Given the description of an element on the screen output the (x, y) to click on. 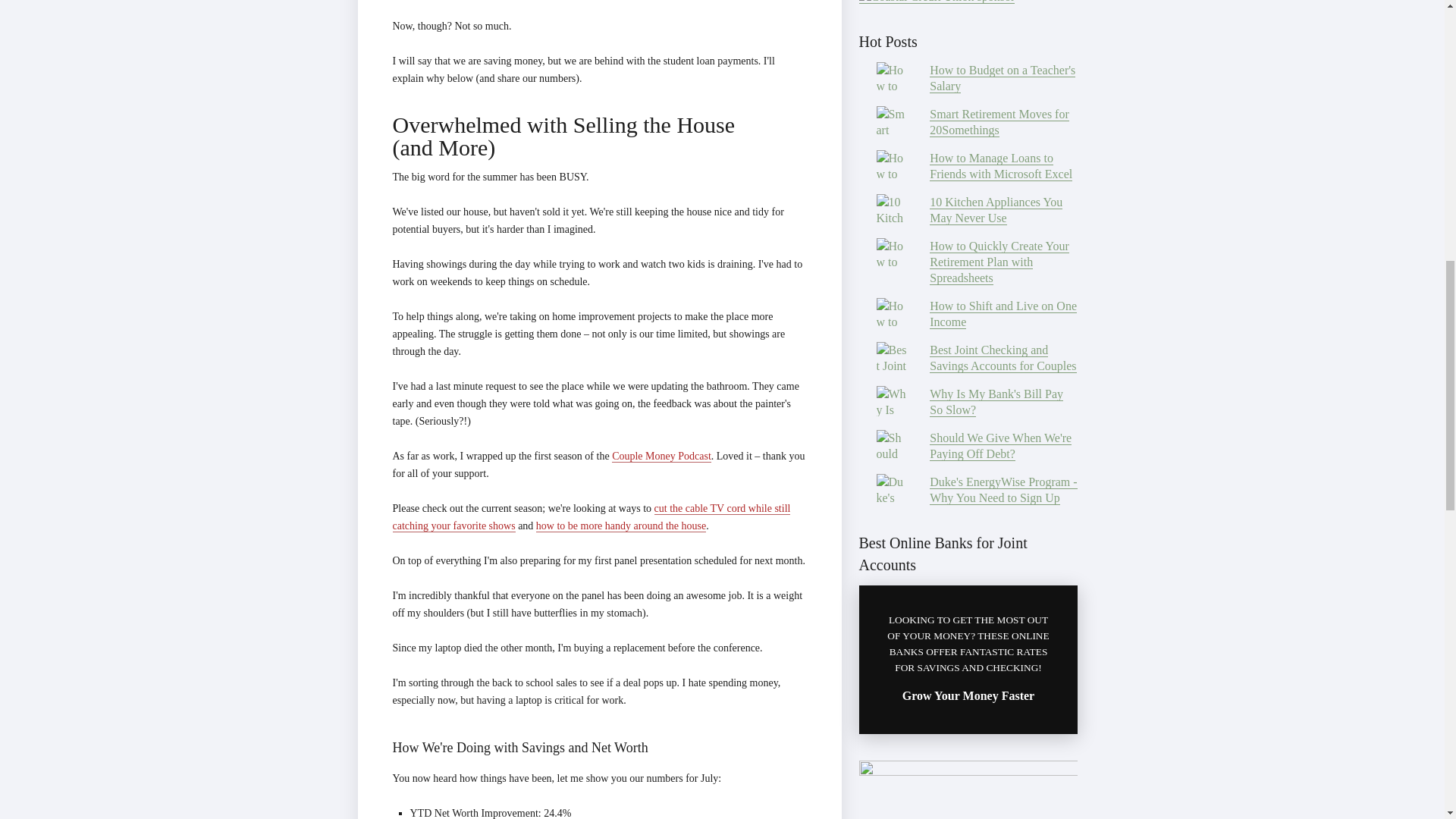
How to Shift and Live on One Income (1003, 314)
How to Budget on a Teacher's Salary (1002, 78)
How to Manage Loans to Friends with Microsoft Excel (1000, 165)
Smart Retirement Moves for 20Somethings (999, 122)
Couple Money Podcast (661, 456)
How to Quickly Create Your Retirement Plan with Spreadsheets (999, 262)
how to be more handy around the house (620, 526)
10 Kitchen Appliances You May Never Use (996, 210)
